Given the description of an element on the screen output the (x, y) to click on. 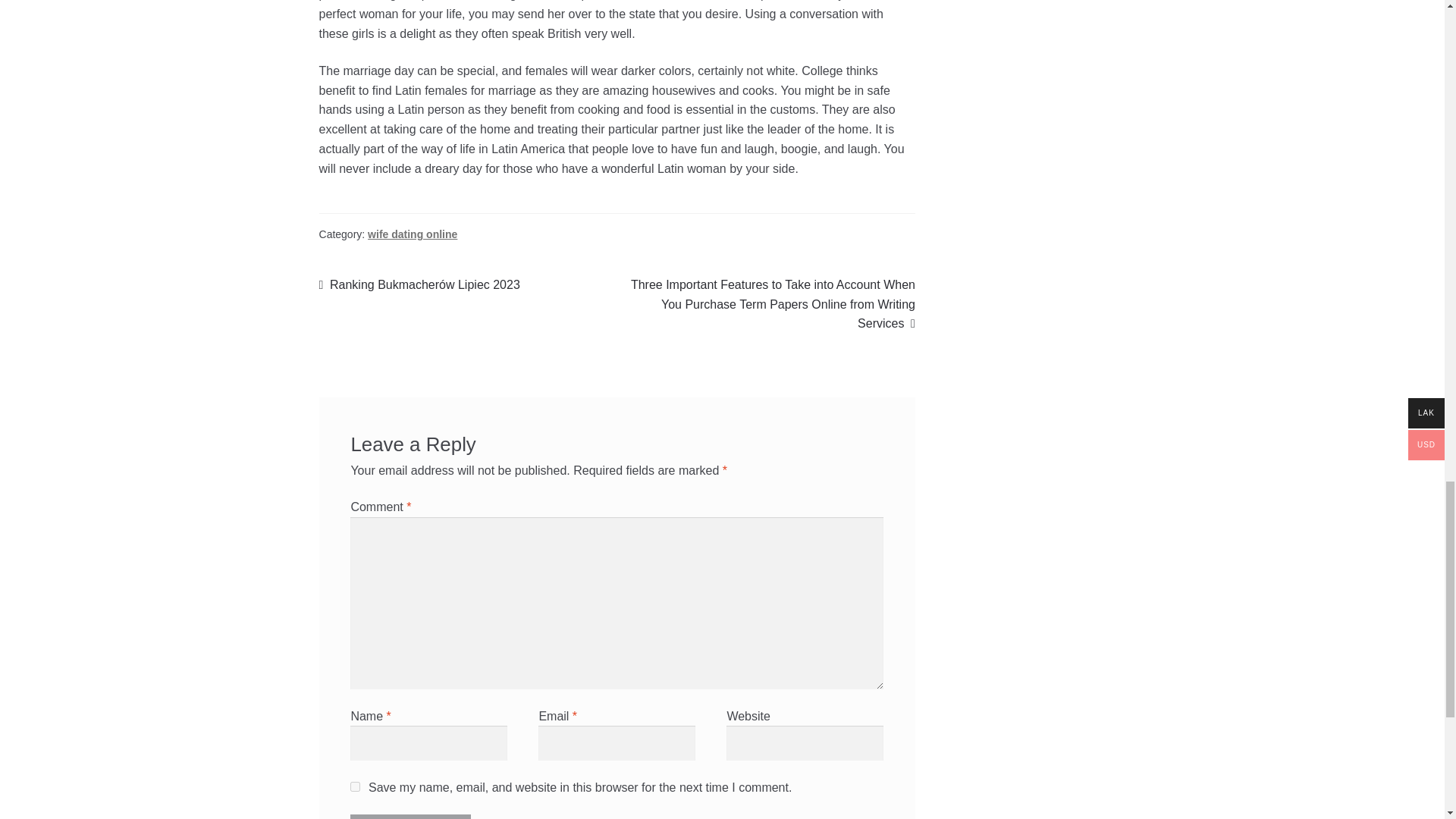
wife dating online (412, 234)
Post Comment (410, 816)
yes (354, 786)
Post Comment (410, 816)
